Given the description of an element on the screen output the (x, y) to click on. 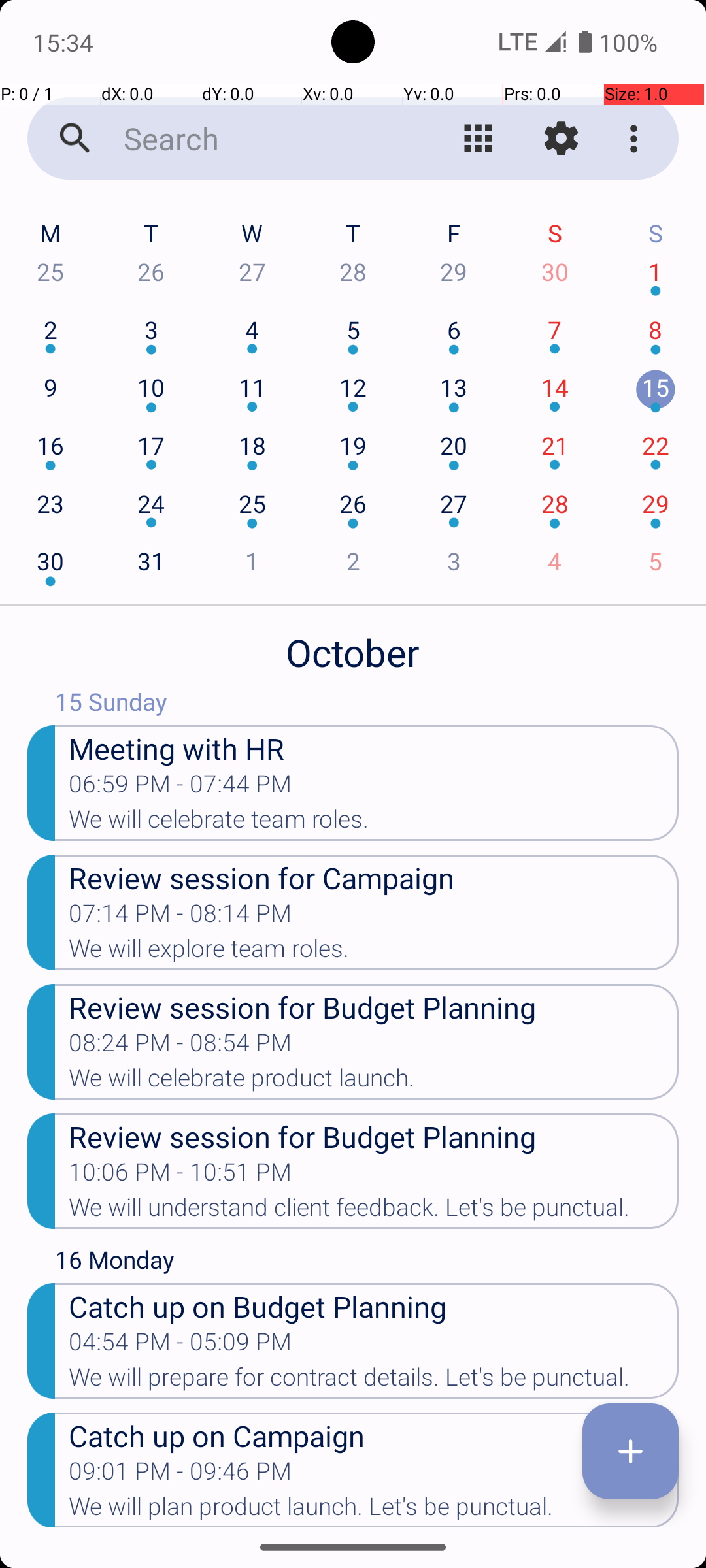
06:59 PM - 07:44 PM Element type: android.widget.TextView (179, 787)
We will celebrate team roles. Element type: android.widget.TextView (373, 822)
07:14 PM - 08:14 PM Element type: android.widget.TextView (179, 916)
We will explore team roles. Element type: android.widget.TextView (373, 952)
08:24 PM - 08:54 PM Element type: android.widget.TextView (179, 1046)
We will celebrate product launch. Element type: android.widget.TextView (373, 1081)
10:06 PM - 10:51 PM Element type: android.widget.TextView (179, 1175)
We will understand client feedback. Let's be punctual. Element type: android.widget.TextView (373, 1210)
04:54 PM - 05:09 PM Element type: android.widget.TextView (179, 1345)
We will prepare for contract details. Let's be punctual. Element type: android.widget.TextView (373, 1380)
09:01 PM - 09:46 PM Element type: android.widget.TextView (179, 1474)
We will plan product launch. Let's be punctual. Element type: android.widget.TextView (373, 1509)
